Given the description of an element on the screen output the (x, y) to click on. 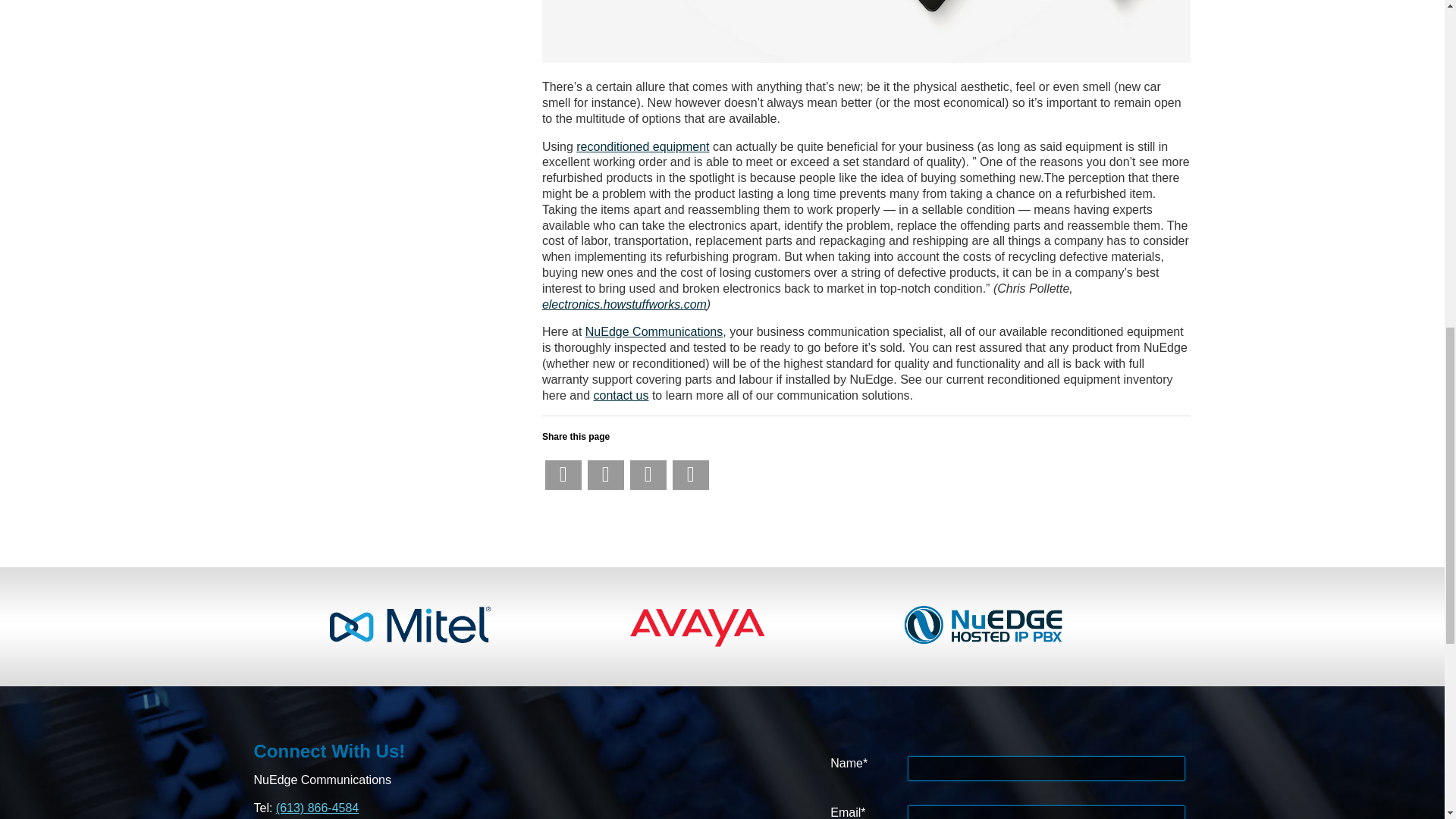
Share this article on LinkedIn (648, 474)
Share this article on Facebook (562, 474)
Share this article on Twitter (606, 474)
